Given the description of an element on the screen output the (x, y) to click on. 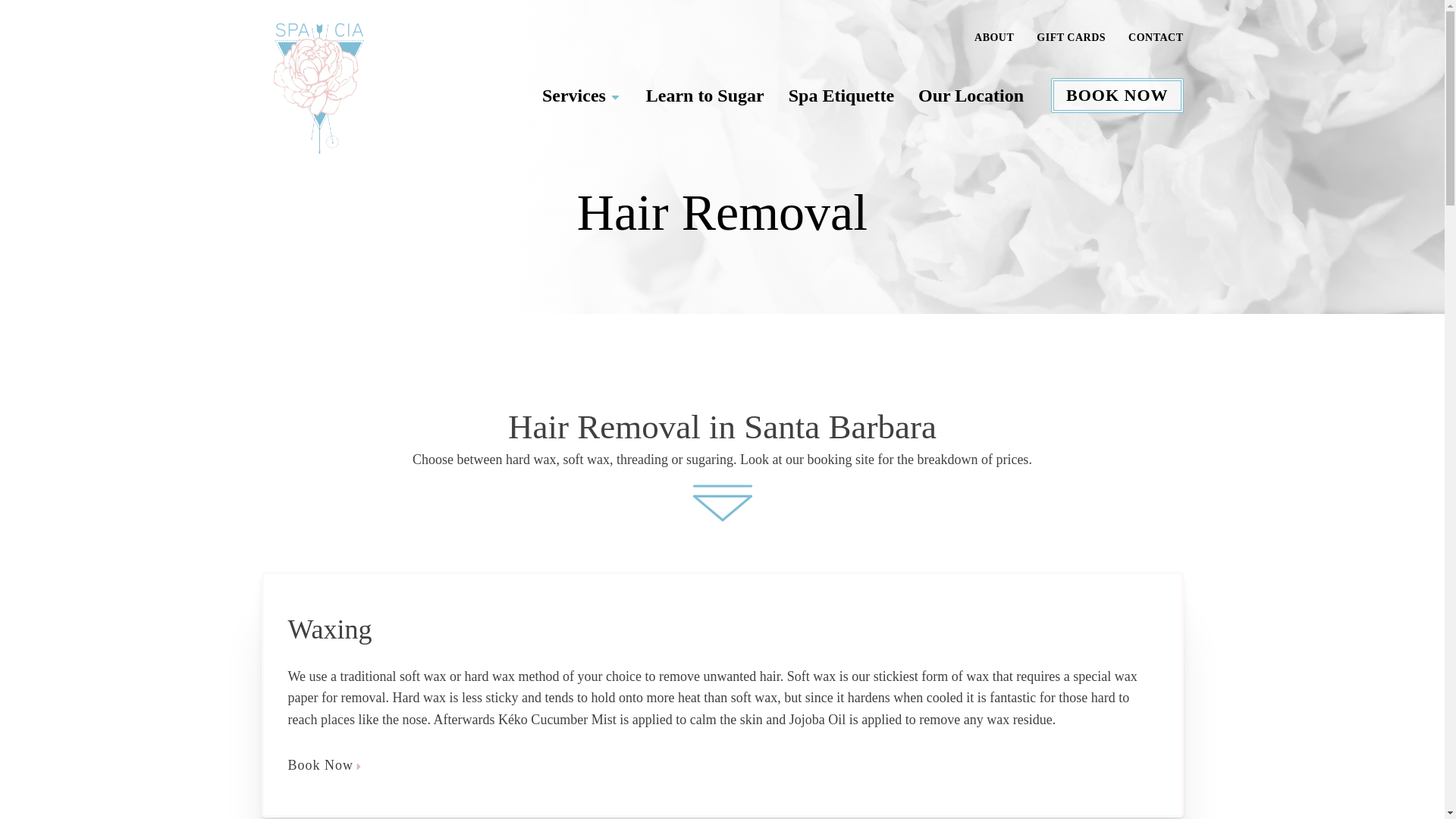
Our Location (970, 95)
CONTACT (1155, 37)
Services (581, 95)
BOOK NOW (1117, 95)
Learn to Sugar (704, 95)
Book Now (722, 765)
GIFT CARDS (1070, 37)
Spa Etiquette (840, 95)
ABOUT (993, 37)
